Given the description of an element on the screen output the (x, y) to click on. 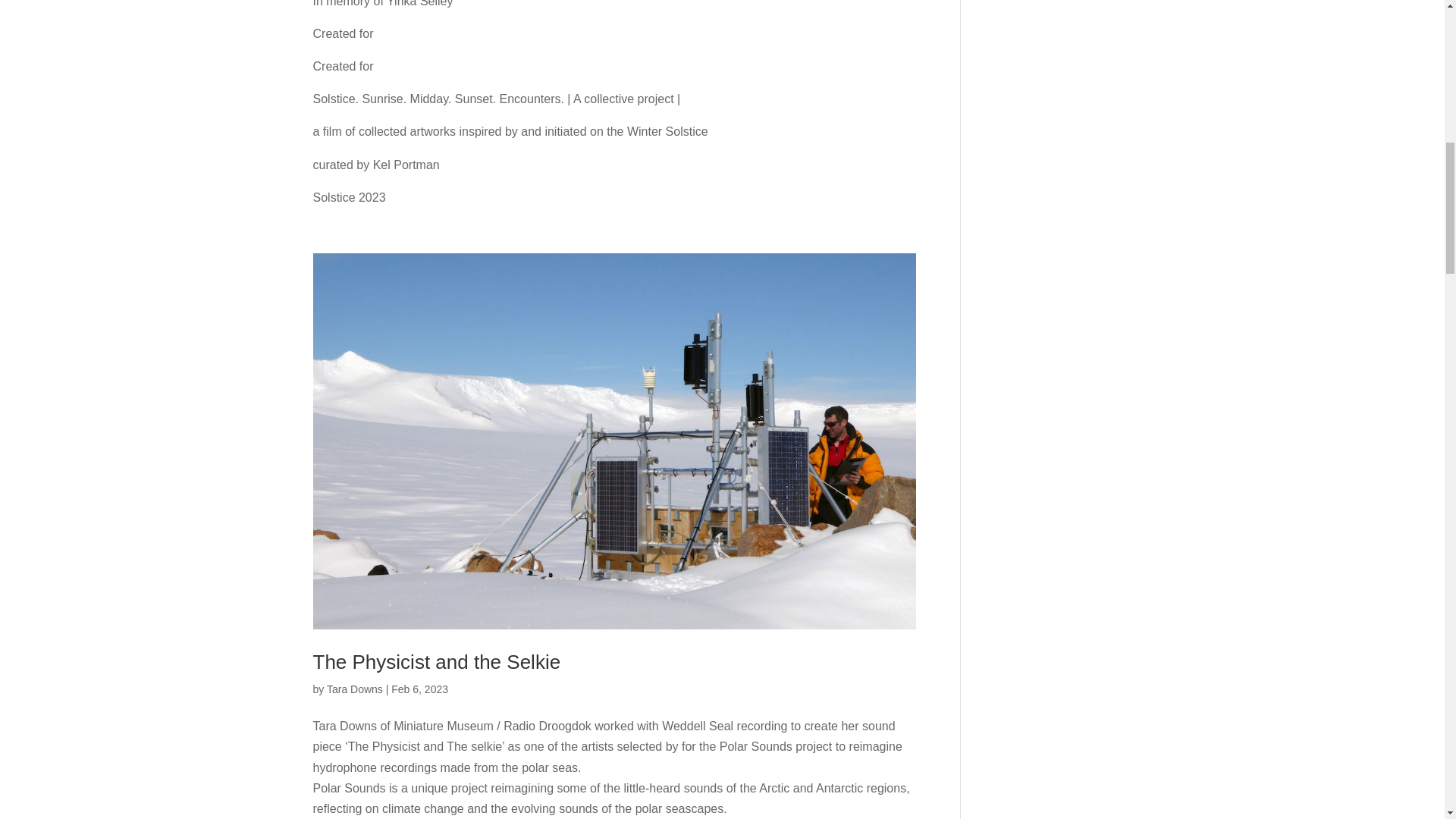
Posts by Tara Downs (354, 689)
The Physicist and the Selkie (436, 661)
Tara Downs (354, 689)
